Given the description of an element on the screen output the (x, y) to click on. 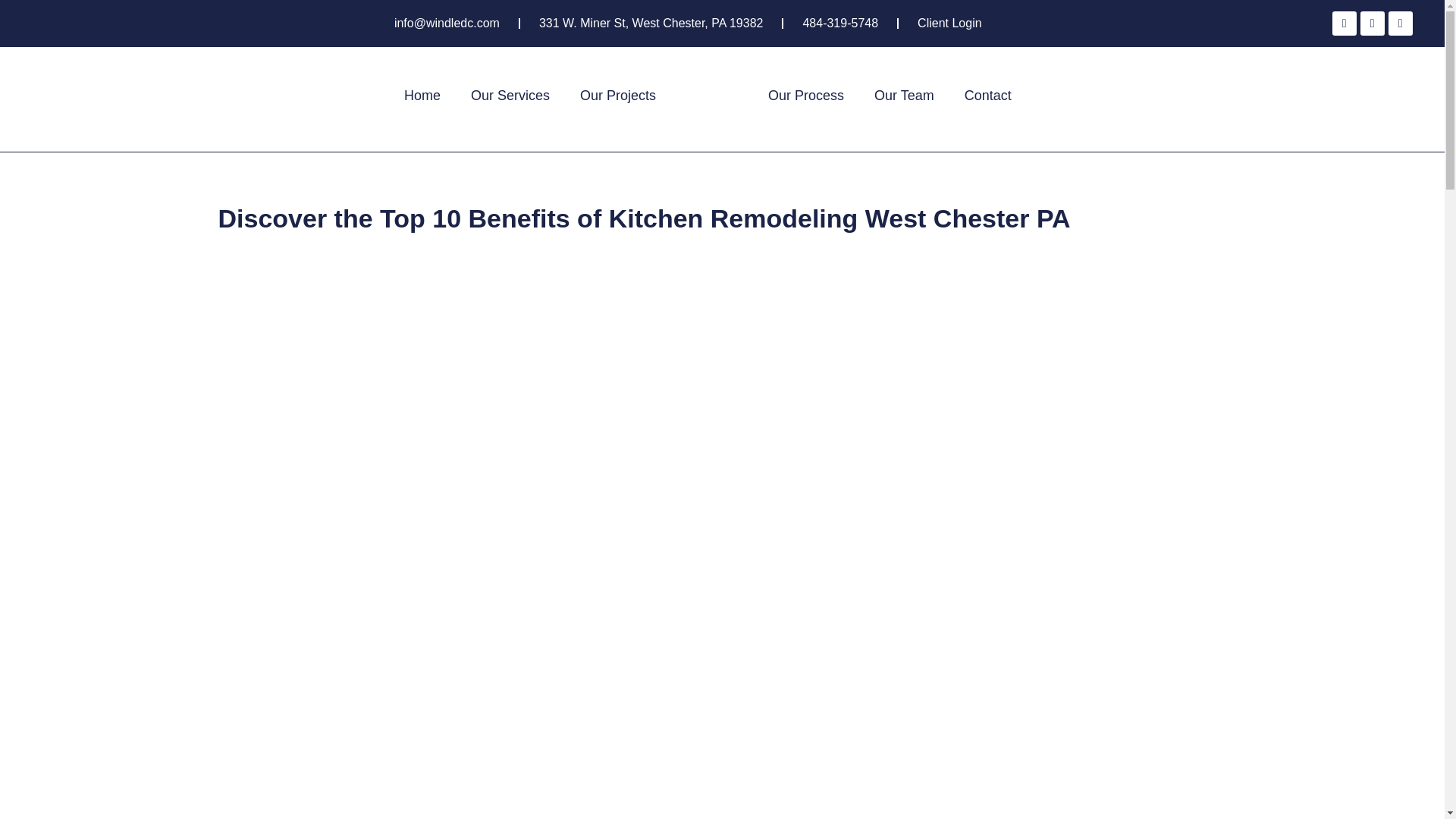
484-319-5748 (839, 23)
Home (421, 95)
Client Login (949, 23)
Our Services (509, 95)
331 W. Miner St, West Chester, PA 19382 (650, 23)
Our Projects (617, 95)
